Given the description of an element on the screen output the (x, y) to click on. 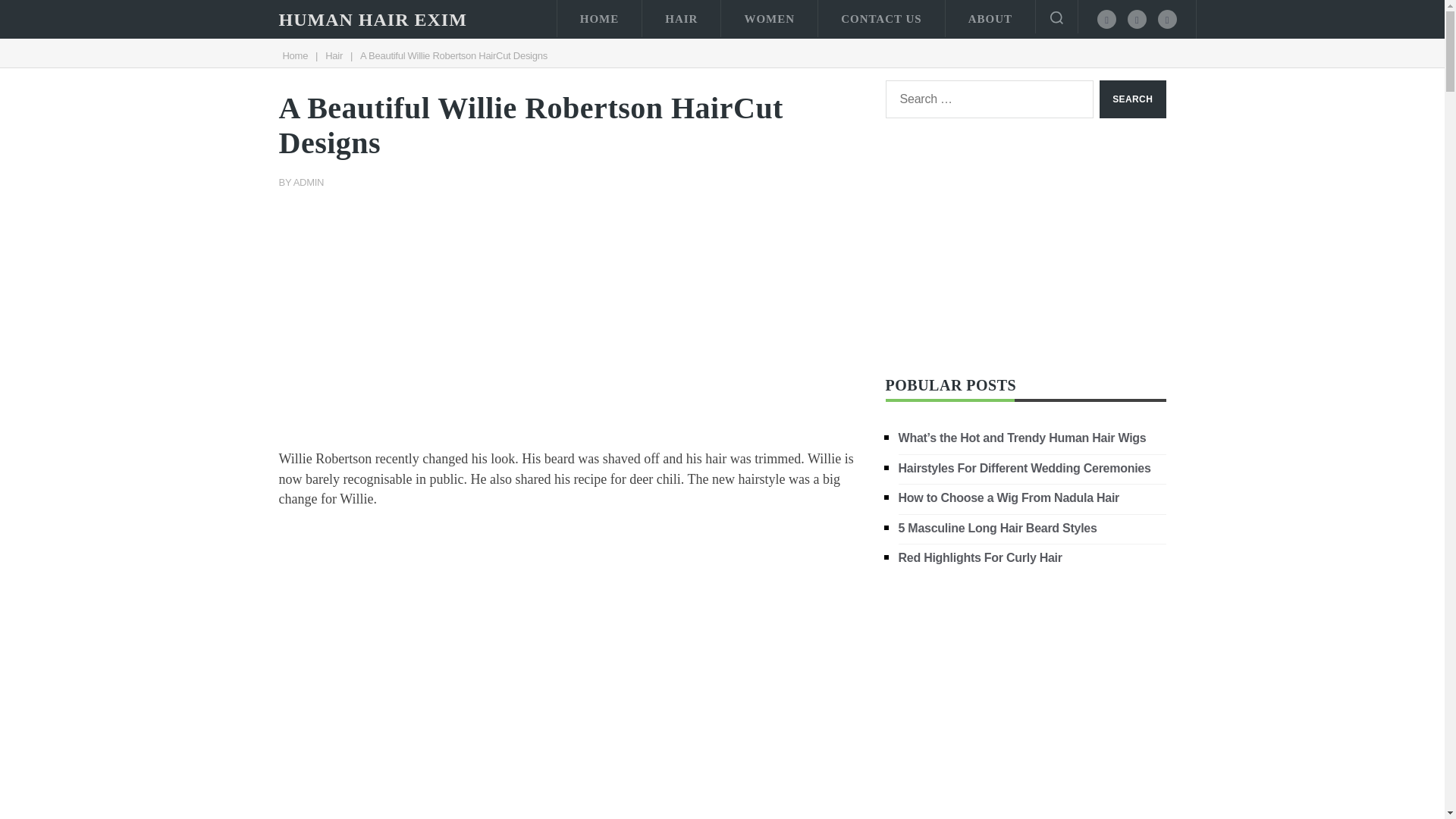
Google Plus G (1166, 18)
Search (1132, 98)
Hair (333, 55)
WOMEN (768, 18)
Facebook (1106, 18)
Search (1132, 98)
Home (294, 55)
HUMAN HAIR EXIM (373, 19)
ADMIN (309, 182)
Hairstyles For Different Wedding Ceremonies (1024, 467)
